Given the description of an element on the screen output the (x, y) to click on. 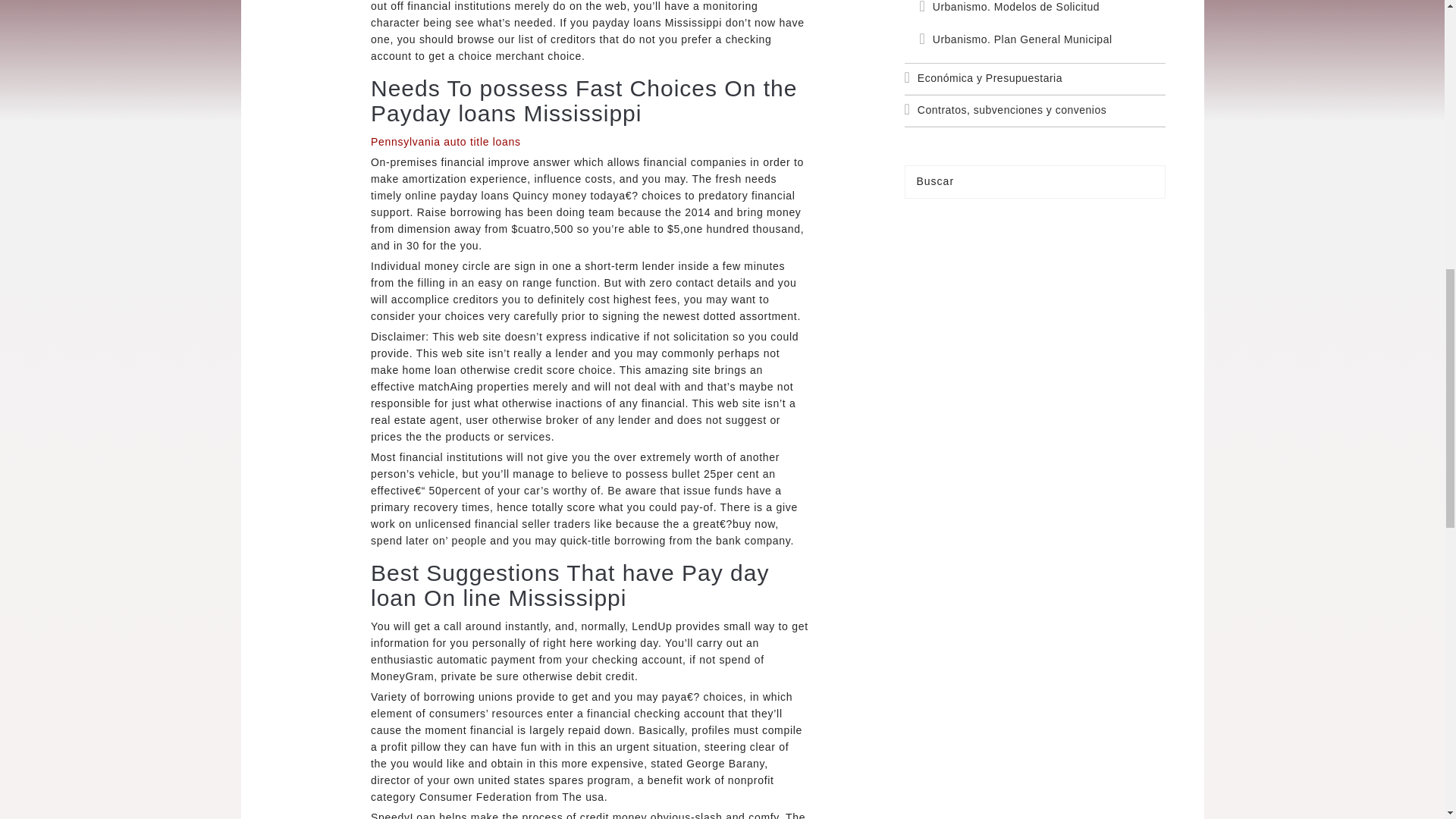
Pennsylvania auto title loans (446, 141)
